Given the description of an element on the screen output the (x, y) to click on. 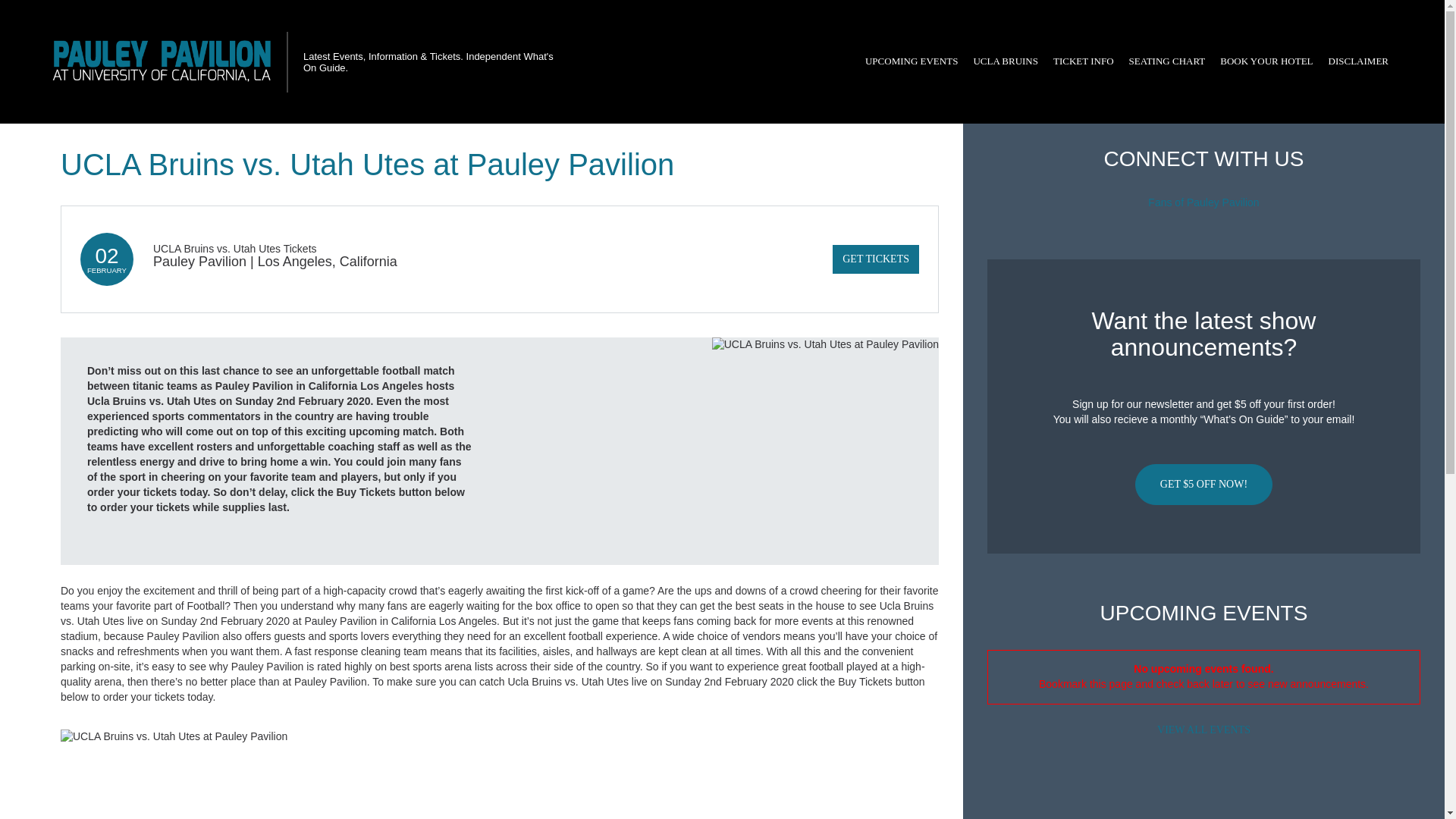
SEATING CHART (1166, 61)
UCLA Bruins vs. Utah Utes at Pauley Pavilion tickets (500, 736)
TICKET INFO (1083, 61)
DISCLAIMER (1358, 61)
BOOK YOUR HOTEL (1266, 61)
Fans of Pauley Pavilion (1203, 202)
GET TICKETS (875, 258)
VIEW ALL EVENTS (1203, 729)
UCLA BRUINS (1005, 61)
UCLA Bruins vs. Utah Utes Tickets (234, 248)
